Given the description of an element on the screen output the (x, y) to click on. 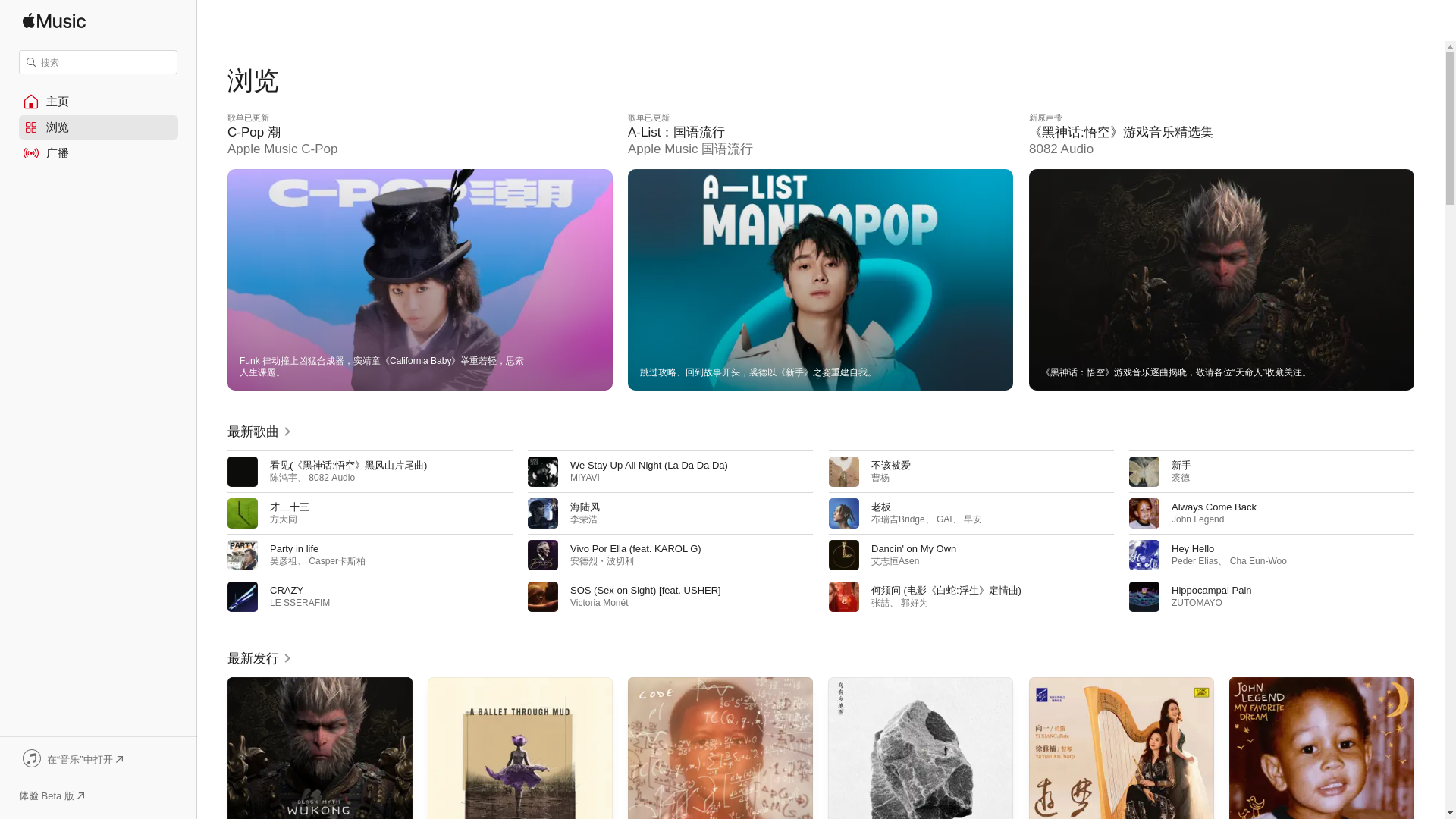
Party in life (293, 548)
CRAZY (285, 590)
MIYAVI (584, 477)
LE SSERAFIM (299, 602)
8082 Audio (331, 477)
